Given the description of an element on the screen output the (x, y) to click on. 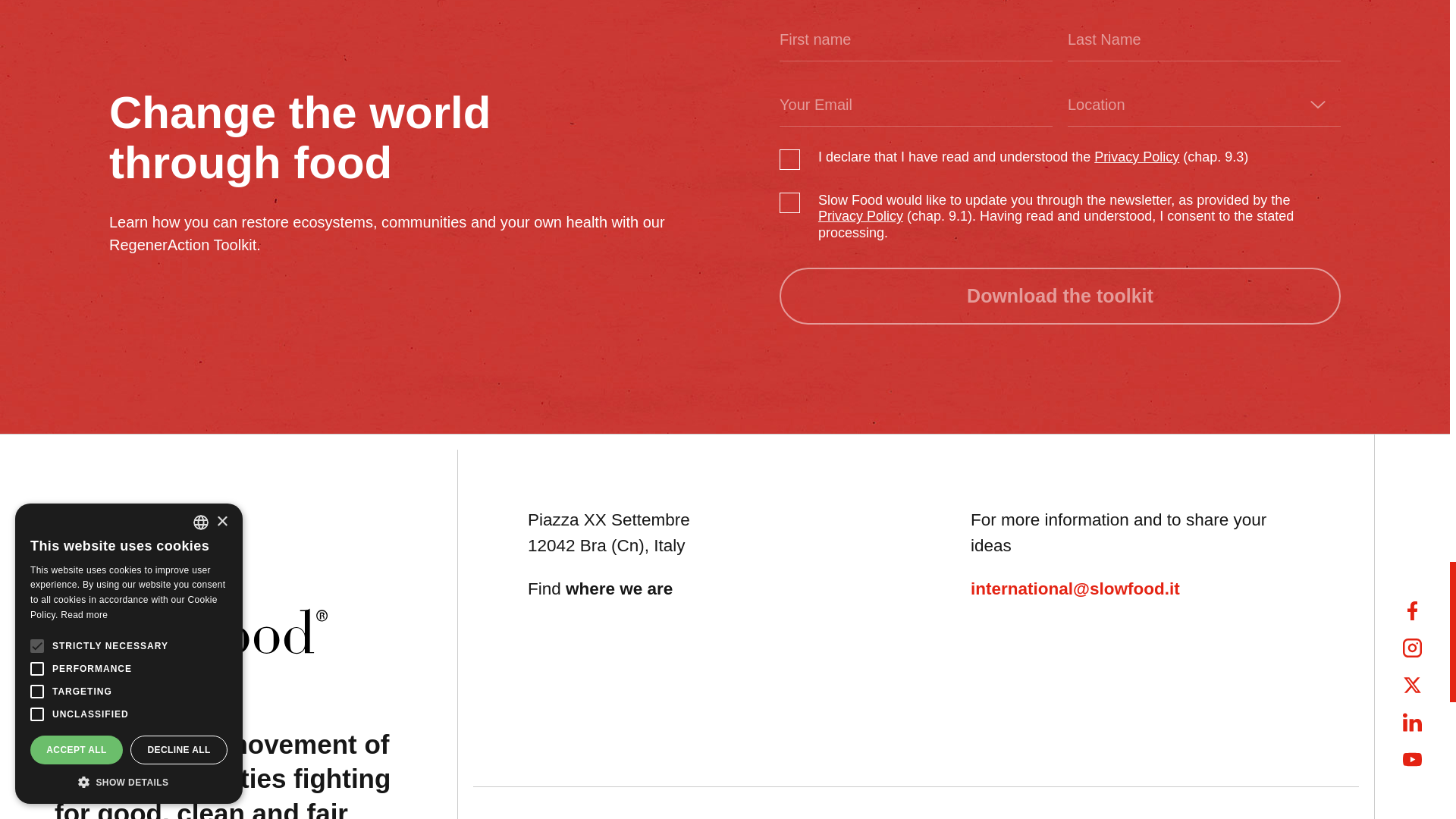
Follow us on instagram (1412, 647)
Slow Food (191, 588)
Accetto la Privacy Policy (1136, 157)
Accetto la Privacy Policy (860, 216)
Follow us on twitter (1412, 684)
